Given the description of an element on the screen output the (x, y) to click on. 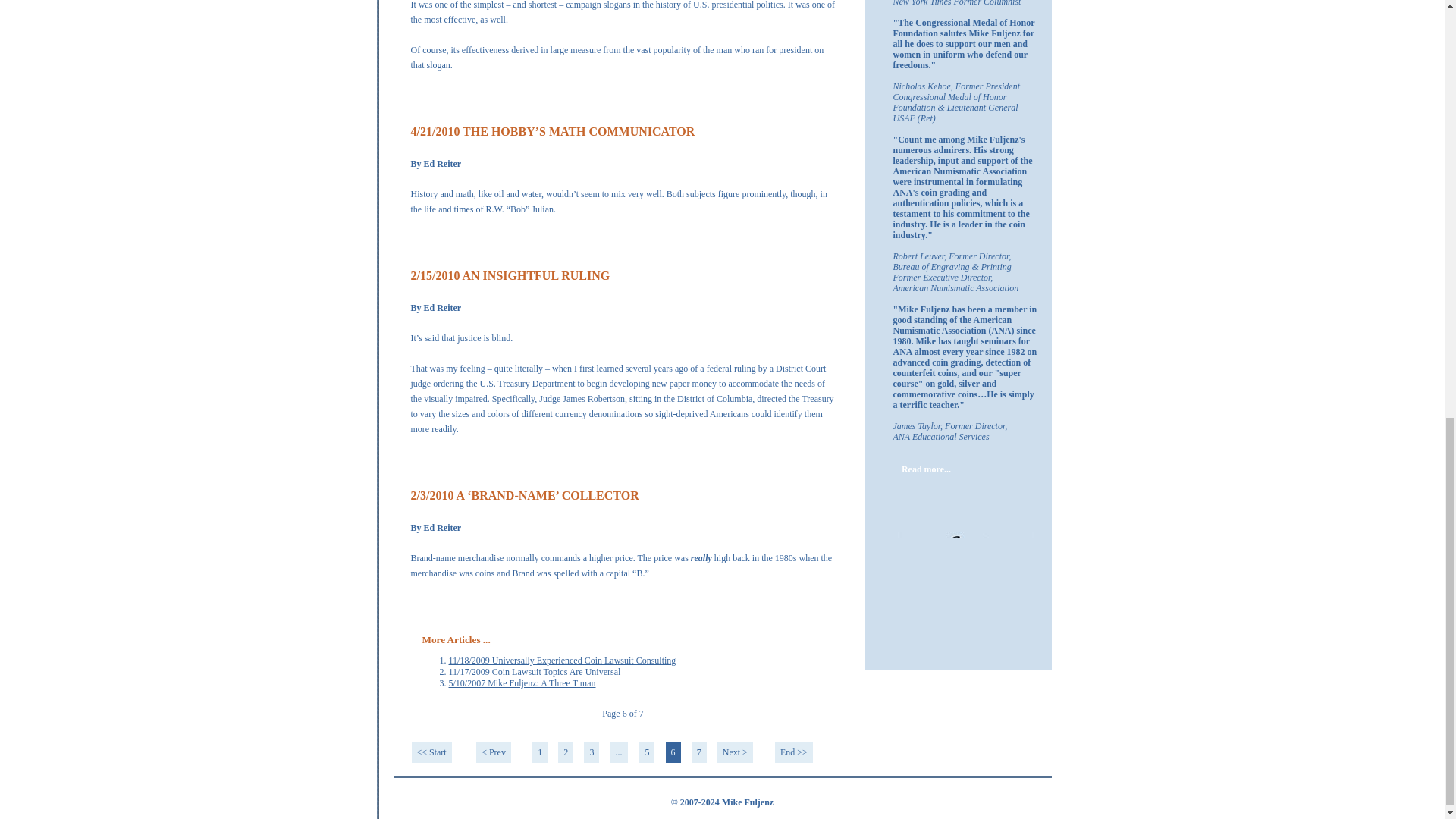
Next (734, 752)
Read more ... (443, 243)
Start (430, 752)
End (793, 752)
Prev (493, 752)
Read more ... (443, 98)
Read more ... (443, 607)
Read more ... (443, 463)
Read more... (926, 471)
